Given the description of an element on the screen output the (x, y) to click on. 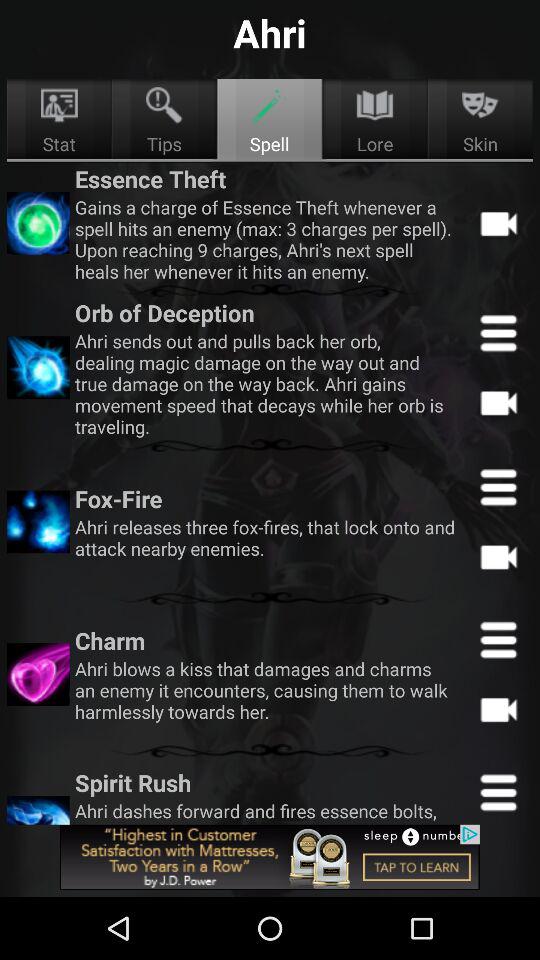
menu for the selected area (498, 332)
